Given the description of an element on the screen output the (x, y) to click on. 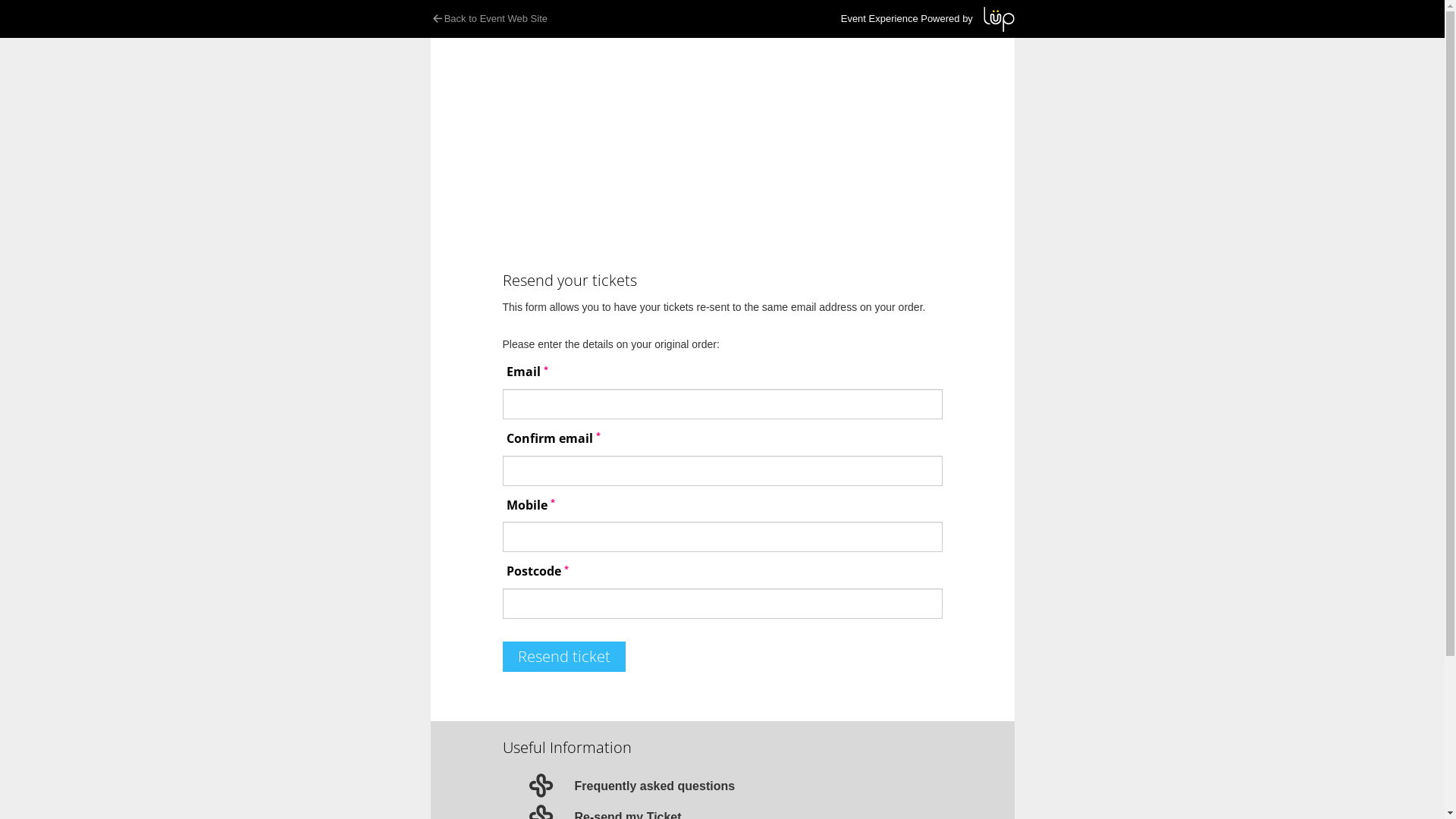
LUP Element type: text (997, 18)
Frequently asked questions Element type: text (654, 785)
Back to Event Web Site Element type: text (547, 18)
Resend ticket Element type: text (563, 656)
